Given the description of an element on the screen output the (x, y) to click on. 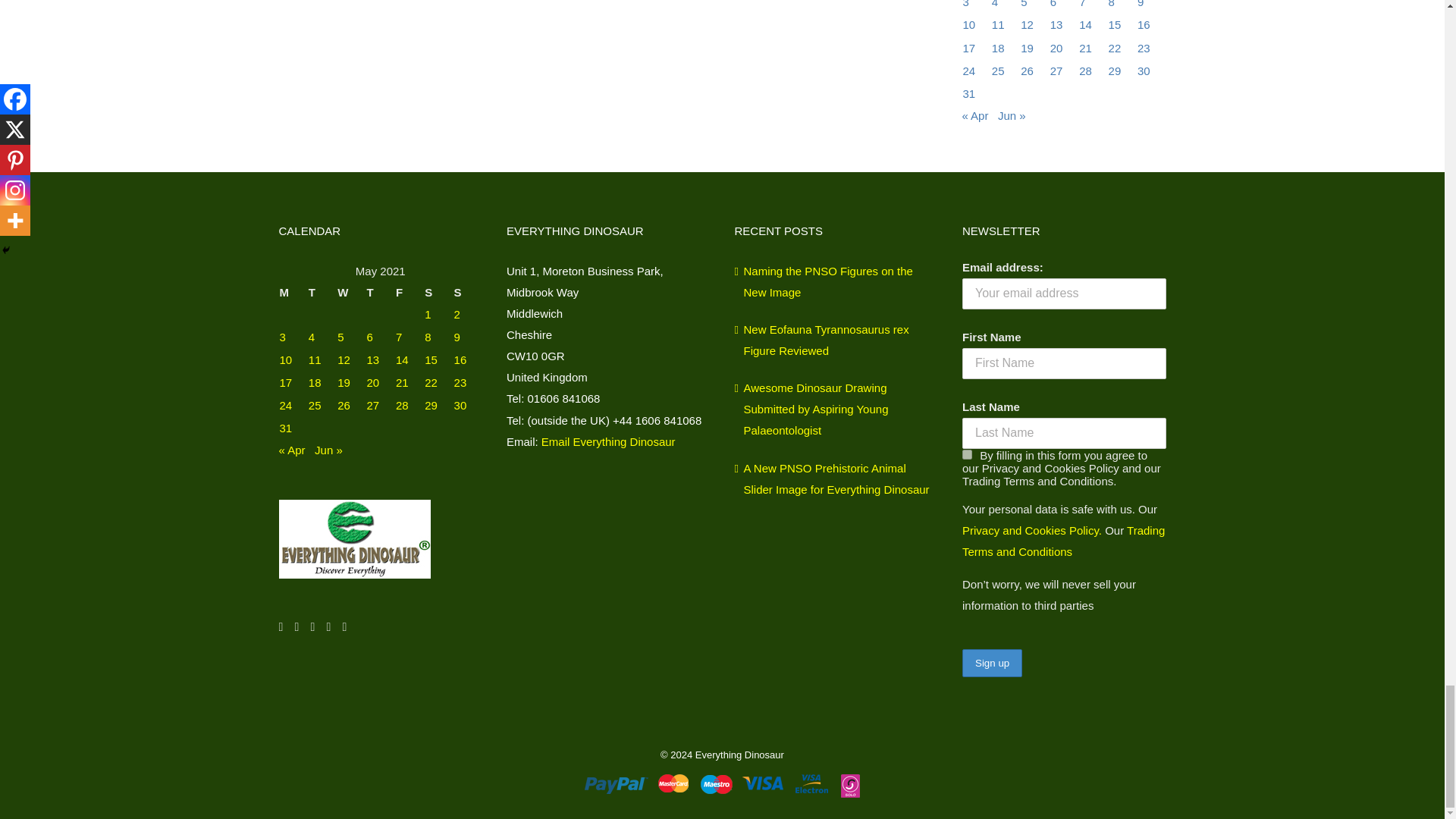
subscribe (967, 454)
Sign up (992, 663)
